Given the description of an element on the screen output the (x, y) to click on. 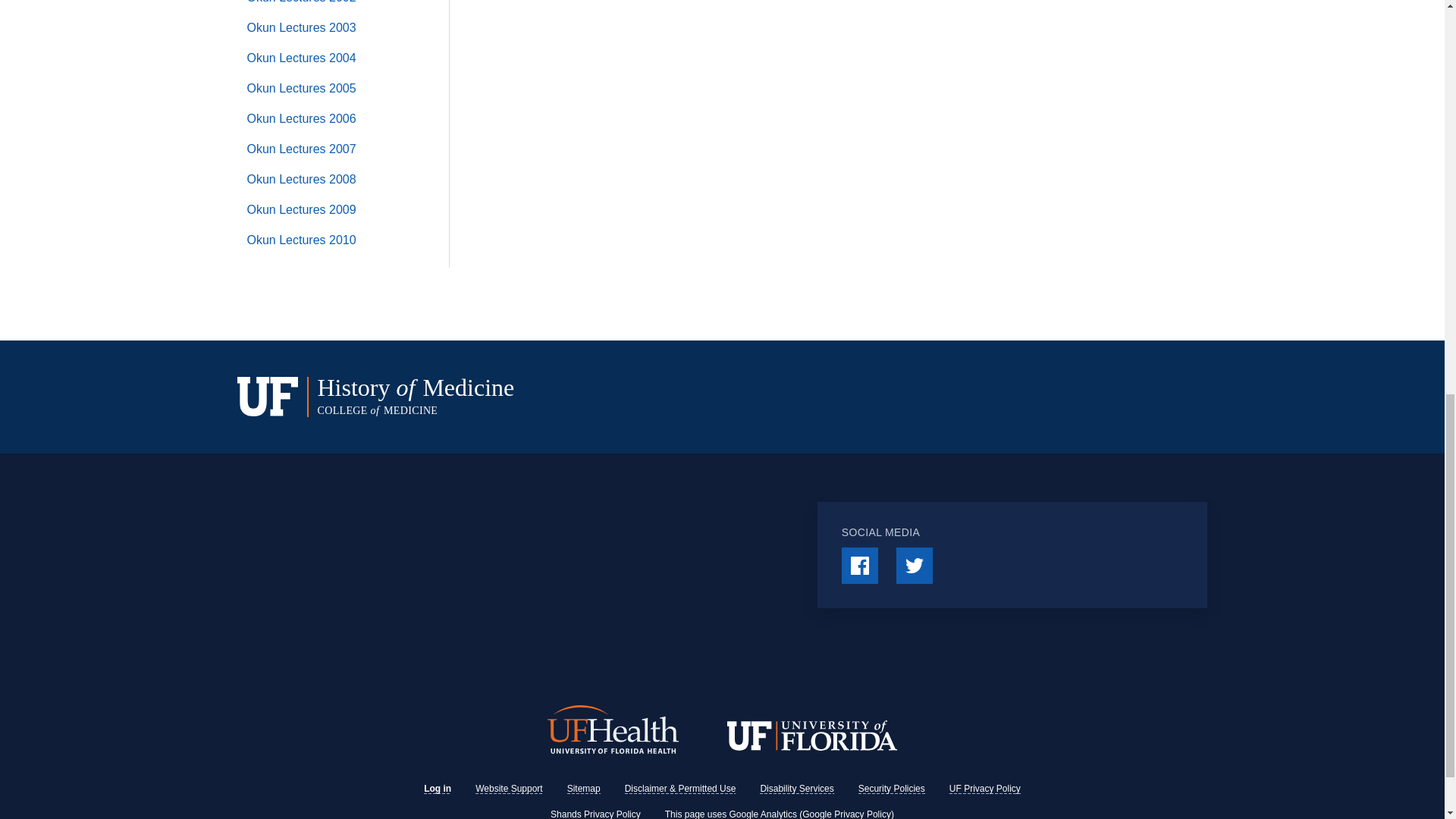
Sitemap (583, 787)
Shands Privacy Policy (595, 814)
UF Privacy Policy (984, 787)
Log in (437, 787)
Security Policies (891, 787)
Website Support (509, 787)
Disability Services (796, 787)
